Given the description of an element on the screen output the (x, y) to click on. 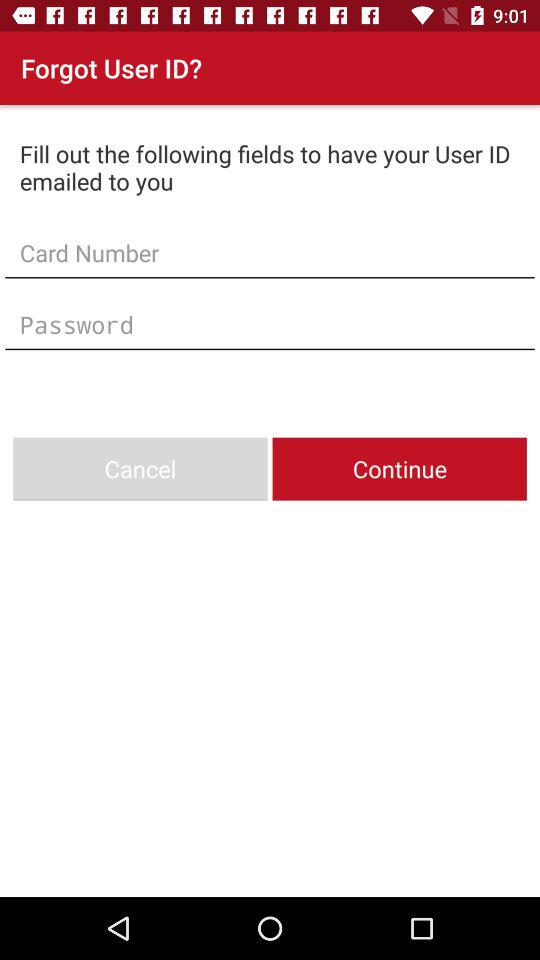
scroll to the continue item (399, 468)
